Given the description of an element on the screen output the (x, y) to click on. 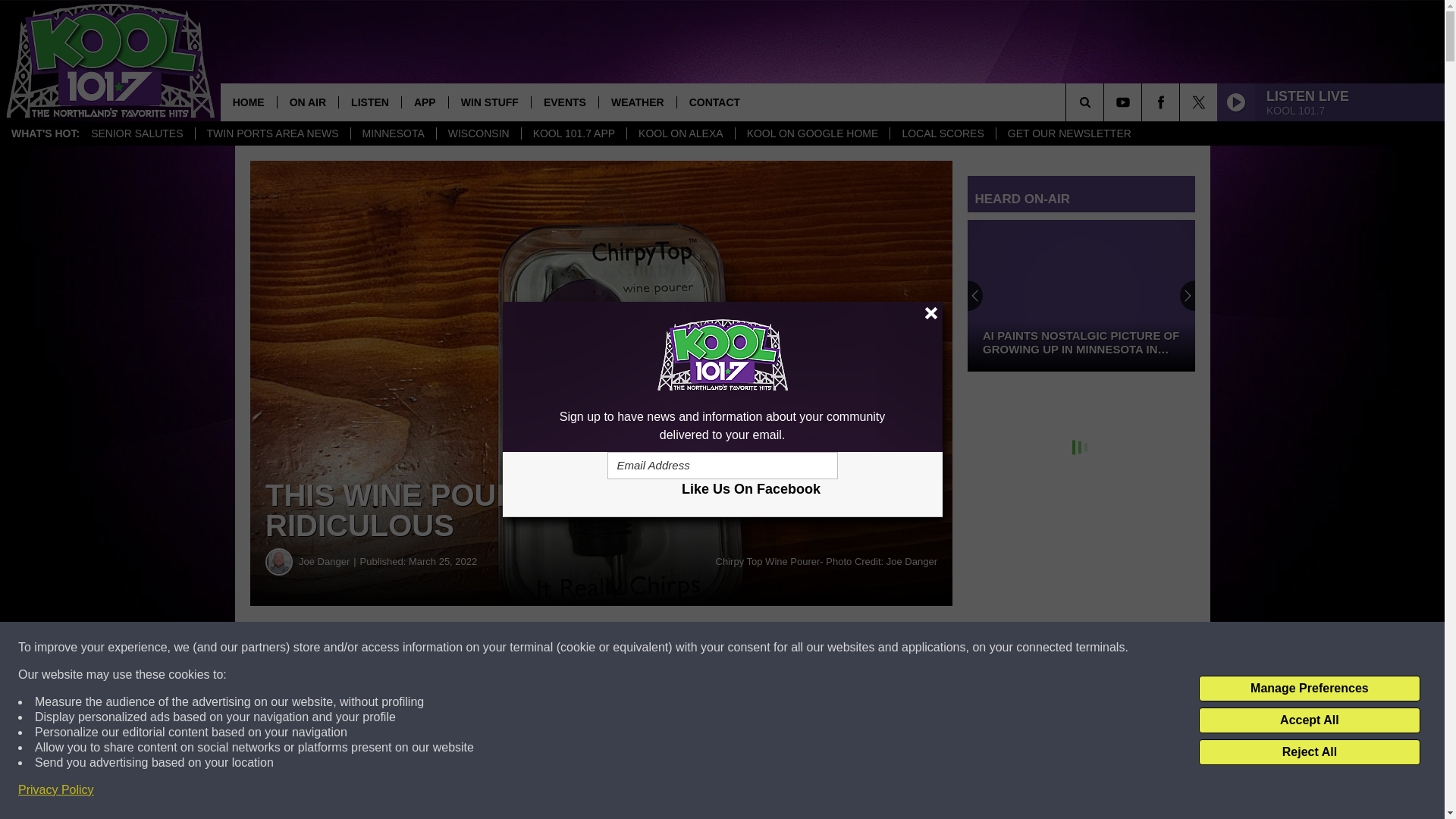
Email Address (722, 465)
Share on Facebook (460, 647)
WISCONSIN (478, 133)
SENIOR SALUTES (136, 133)
LOCAL SCORES (941, 133)
Accept All (1309, 720)
Reject All (1309, 751)
MINNESOTA (392, 133)
SEARCH (1106, 102)
ON AIR (306, 102)
KOOL ON ALEXA (680, 133)
HOME (248, 102)
KOOL 101.7 APP (573, 133)
LISTEN (369, 102)
WIN STUFF (489, 102)
